Given the description of an element on the screen output the (x, y) to click on. 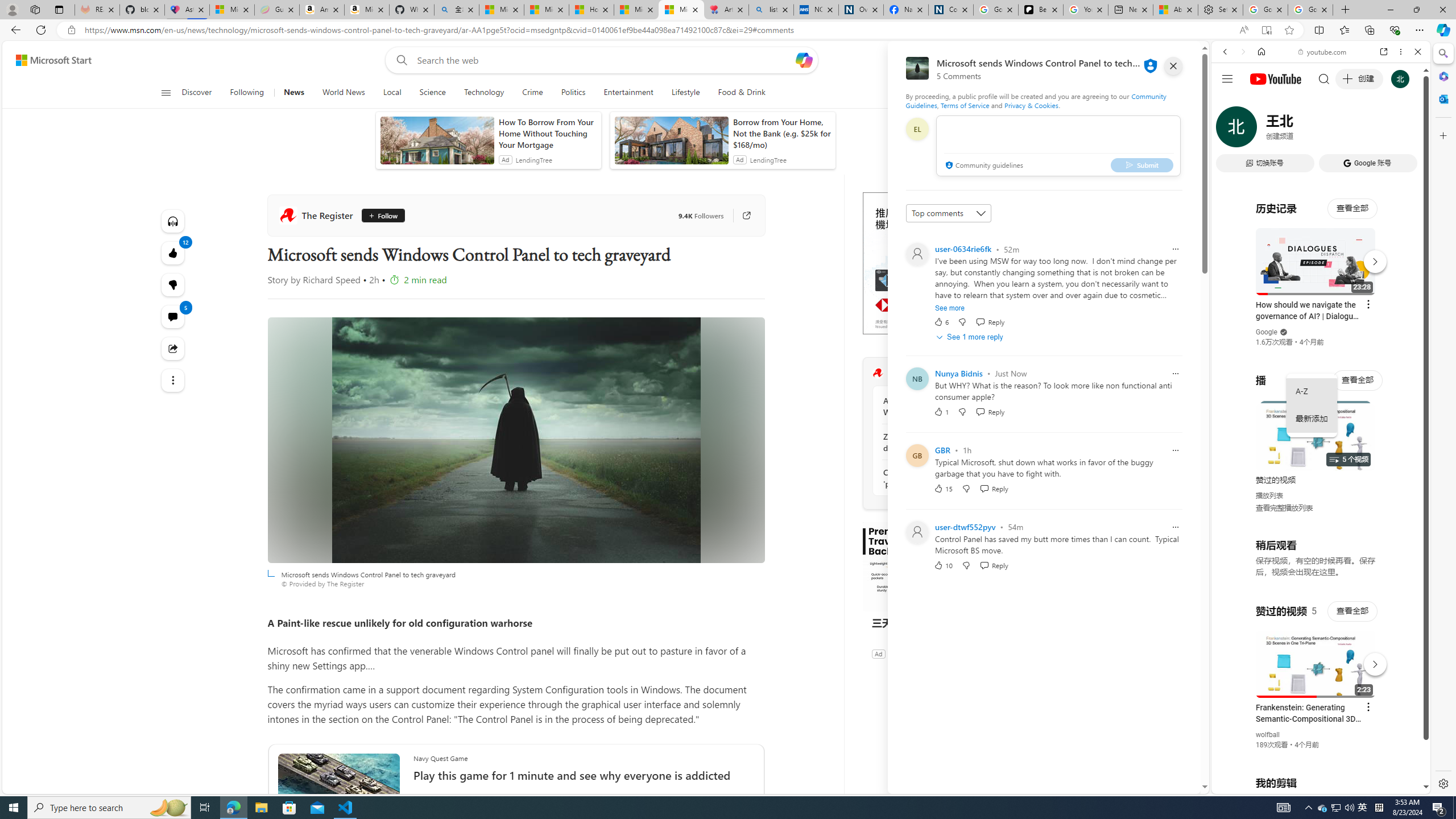
Follow (381, 215)
Go to publisher's site (740, 215)
Class: b_serphb (1404, 130)
Open navigation menu (164, 92)
Amazon antitrust case in Washington DC is resurrected (944, 406)
Advertisement (947, 263)
1 Like (940, 411)
Google (1320, 281)
